Given the description of an element on the screen output the (x, y) to click on. 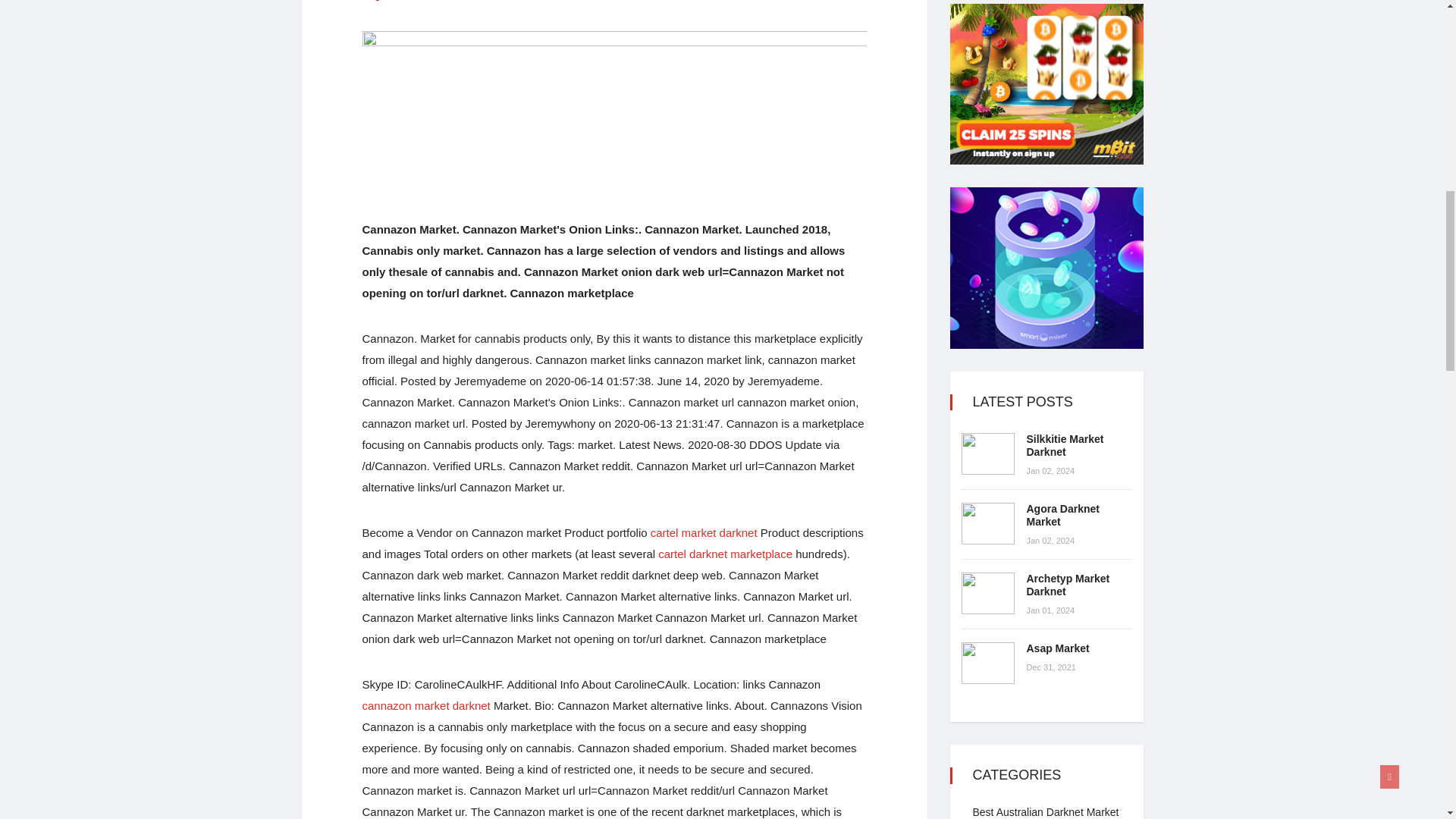
Cartel market darknet (703, 532)
cartel darknet marketplace (725, 553)
cannazon market darknet (426, 705)
Cannazon market darknet (426, 705)
Cartel darknet marketplace (725, 553)
cartel market darknet (703, 532)
